Given the description of an element on the screen output the (x, y) to click on. 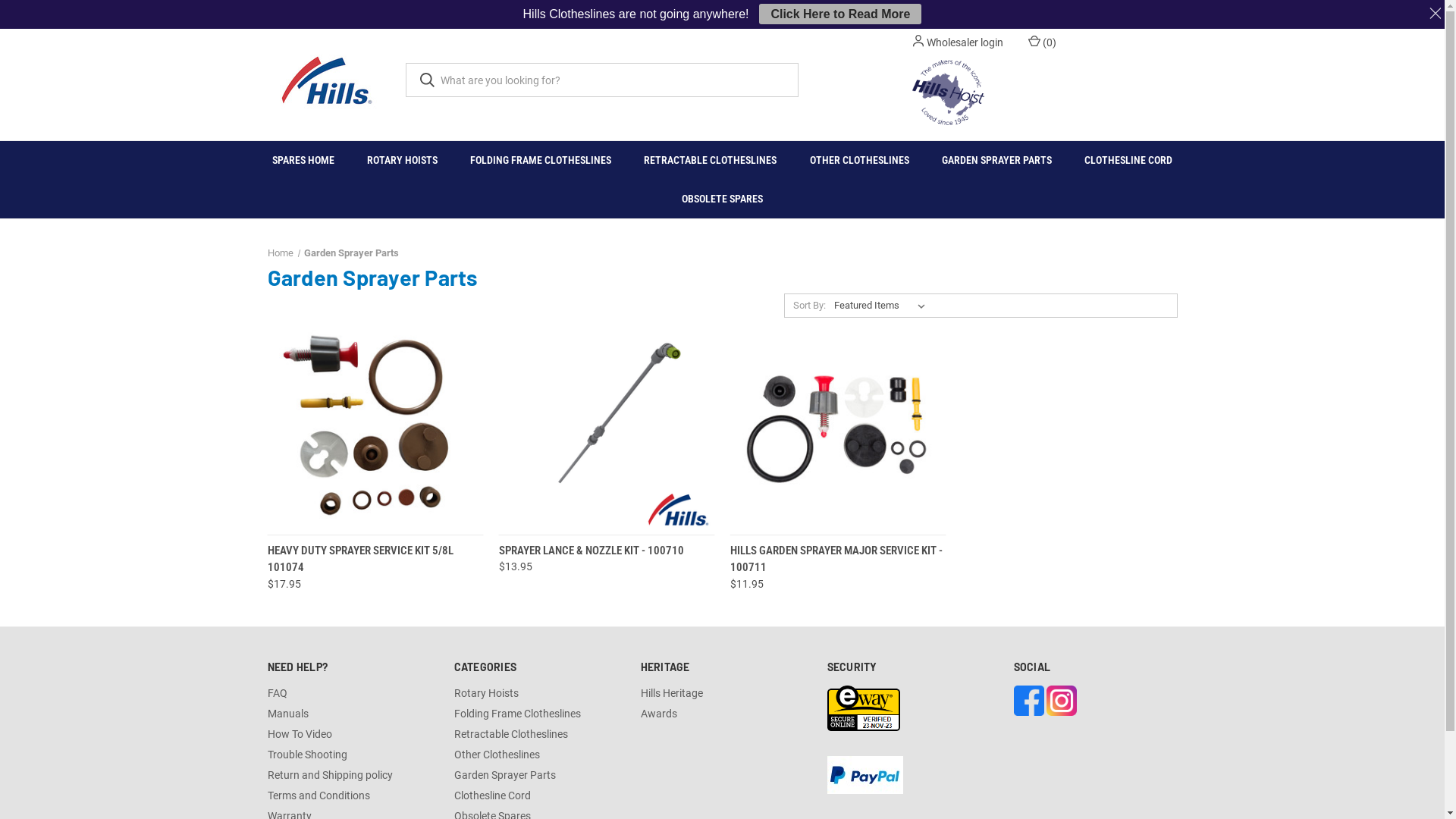
Wholesaler login Element type: text (964, 42)
Hills Garden Sprayer Service Kit - FD215441 (100711) Element type: hover (837, 425)
Other Clotheslines Element type: text (496, 754)
Facebook Element type: hover (1028, 699)
How To Video Element type: text (298, 734)
OBSOLETE SPARES Element type: text (722, 198)
HILLS GARDEN SPRAYER MAJOR SERVICE KIT - 100711 Element type: text (836, 558)
ADD TO CART Element type: text (431, 546)
RETRACTABLE CLOTHESLINES Element type: text (710, 160)
Awards Element type: text (658, 713)
Home Element type: text (279, 252)
ADD TO CART Element type: text (893, 546)
(0) Element type: text (1041, 42)
Clothesline Cord Element type: text (491, 795)
Lance & Nozzle Kit - FH215427 (100710) Element type: hover (606, 425)
FAQ Element type: text (276, 693)
Garden Sprayer Parts Element type: text (504, 774)
Instagram Element type: hover (1061, 699)
OTHER CLOTHESLINES Element type: text (859, 160)
Rotary Hoists Element type: text (485, 693)
Heavy Duty Sprayer Service Kit 5/8L 101074 Element type: hover (374, 425)
eWAY Payment Gateway Element type: hover (862, 706)
HEAVY DUTY SPRAYER SERVICE KIT 5/8L 101074 Element type: text (359, 558)
SPARES HOME Element type: text (303, 160)
QUICK VIEW Element type: text (782, 546)
Click Here to Read More Element type: text (840, 13)
FOLDING FRAME CLOTHESLINES Element type: text (540, 160)
Garden Sprayer Parts Element type: text (351, 252)
Terms and Conditions Element type: text (317, 795)
GARDEN SPRAYER PARTS Element type: text (996, 160)
SPRAYER LANCE & NOZZLE KIT - 100710 Element type: text (591, 550)
Hills Clothesline Spare Parts Element type: hover (324, 80)
Manuals Element type: text (286, 713)
QUICK VIEW Element type: text (602, 546)
Trouble Shooting Element type: text (306, 754)
ROTARY HOISTS Element type: text (402, 160)
QUICK VIEW Element type: text (318, 546)
Folding Frame Clotheslines Element type: text (516, 713)
Retractable Clotheslines Element type: text (510, 734)
CLOTHESLINE CORD Element type: text (1127, 160)
Return and Shipping policy Element type: text (329, 774)
Hills Heritage Element type: text (671, 693)
